Given the description of an element on the screen output the (x, y) to click on. 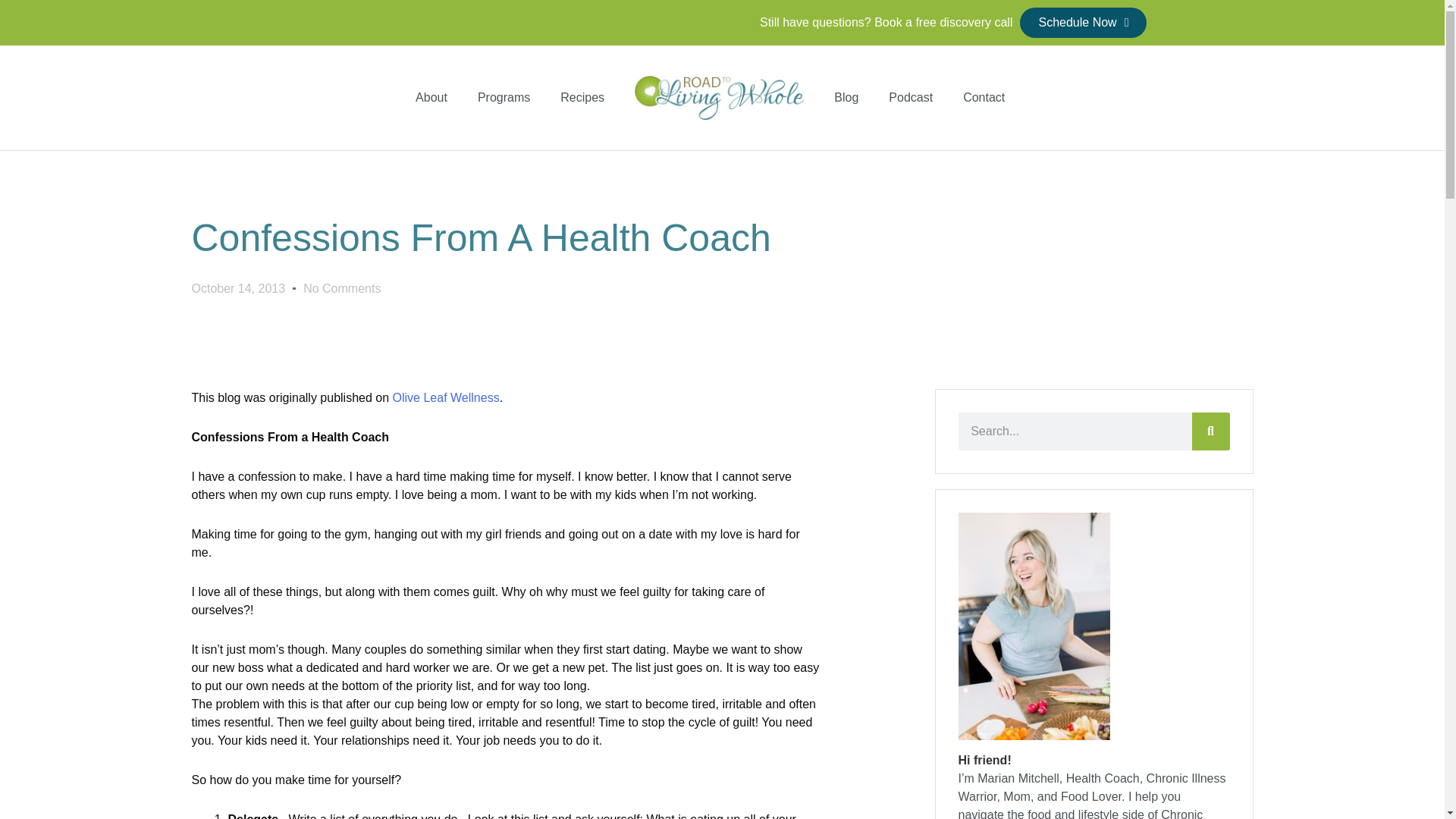
Contact (983, 97)
Schedule Now (1083, 22)
Blog (845, 97)
About (431, 97)
October 14, 2013 (237, 289)
Search (1211, 431)
Olive Leaf Wellness (446, 397)
Podcast (910, 97)
No Comments (341, 289)
Programs (503, 97)
Recipes (582, 97)
